Given the description of an element on the screen output the (x, y) to click on. 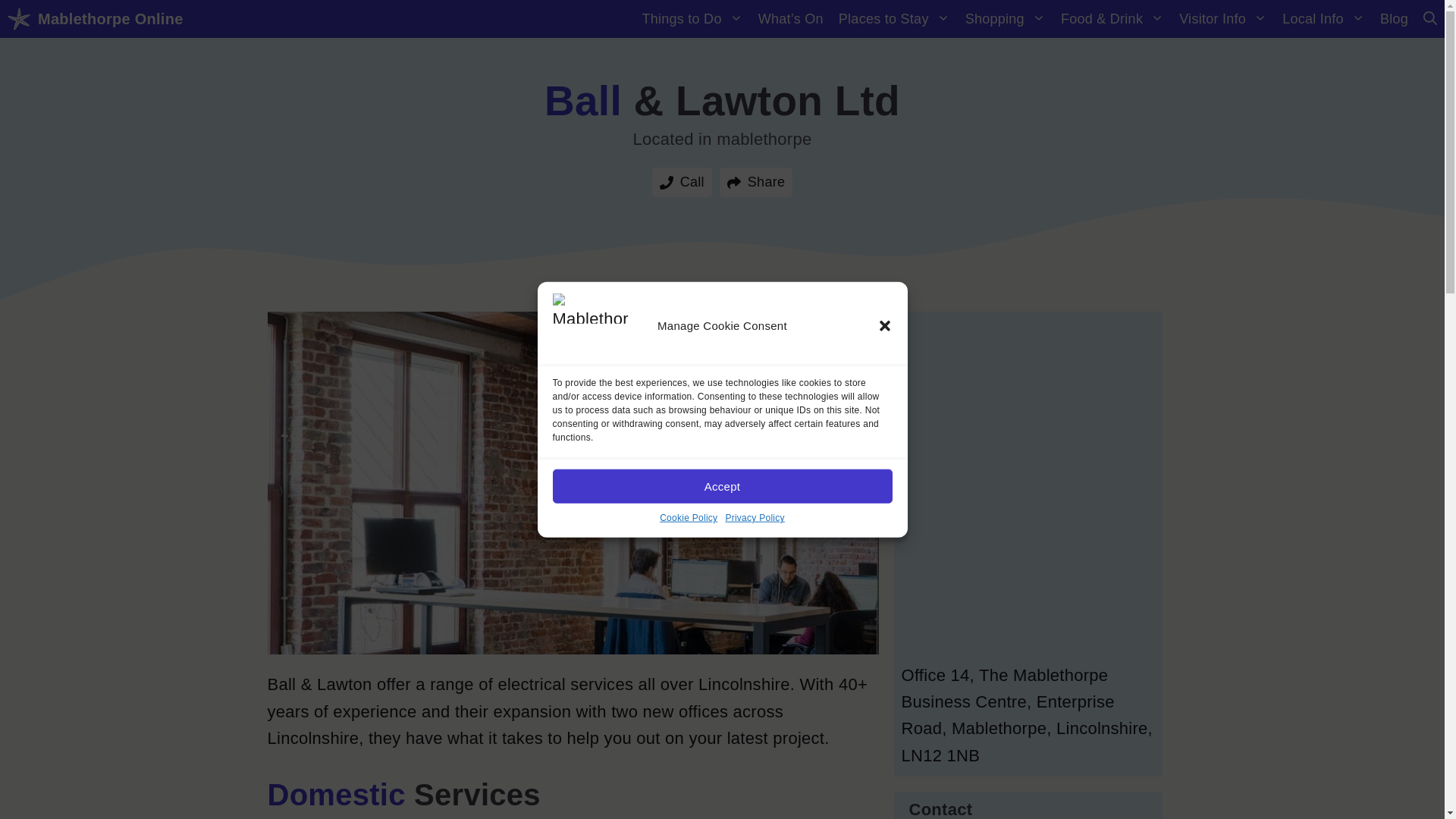
Shopping (1005, 18)
Visitor Info (1223, 18)
Privacy Policy (754, 518)
Cookie Policy (688, 518)
Things to Do (691, 18)
View All Shops (1005, 18)
Places to Stay (894, 18)
Mablethorpe Online (110, 18)
View all Things to Do (691, 18)
Accept (721, 486)
